Given the description of an element on the screen output the (x, y) to click on. 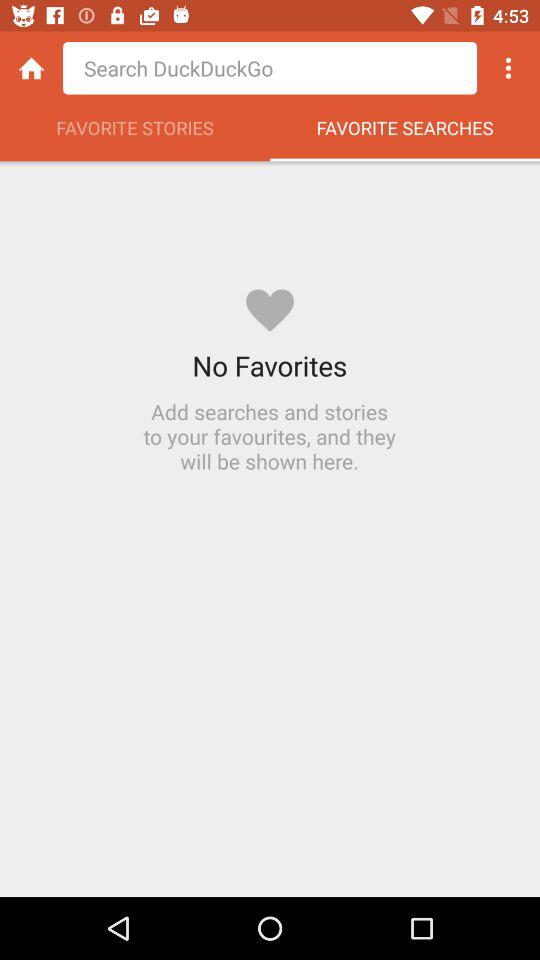
turn off app to the right of the favorite stories item (405, 133)
